Given the description of an element on the screen output the (x, y) to click on. 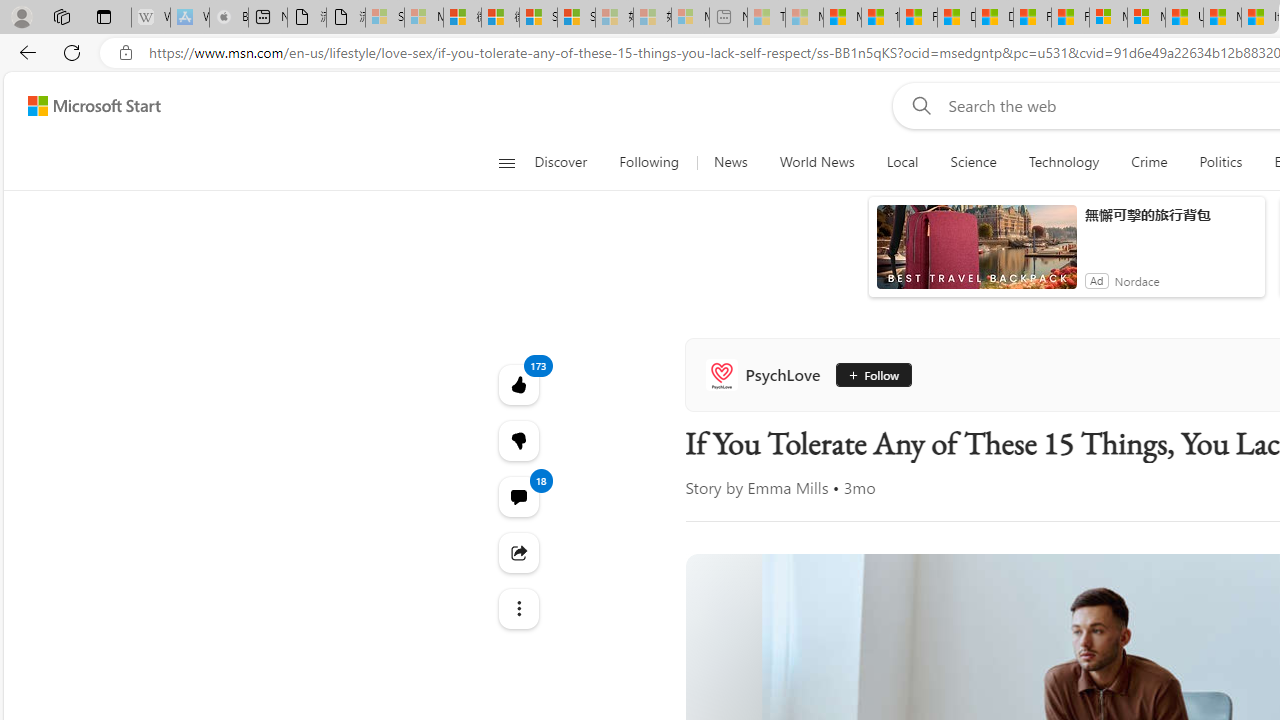
View comments 18 Comment (517, 496)
Crime (1149, 162)
Skip to footer (82, 105)
Class: button-glyph (505, 162)
Web search (917, 105)
New tab - Sleeping (728, 17)
Wikipedia - Sleeping (150, 17)
World News (816, 162)
